Given the description of an element on the screen output the (x, y) to click on. 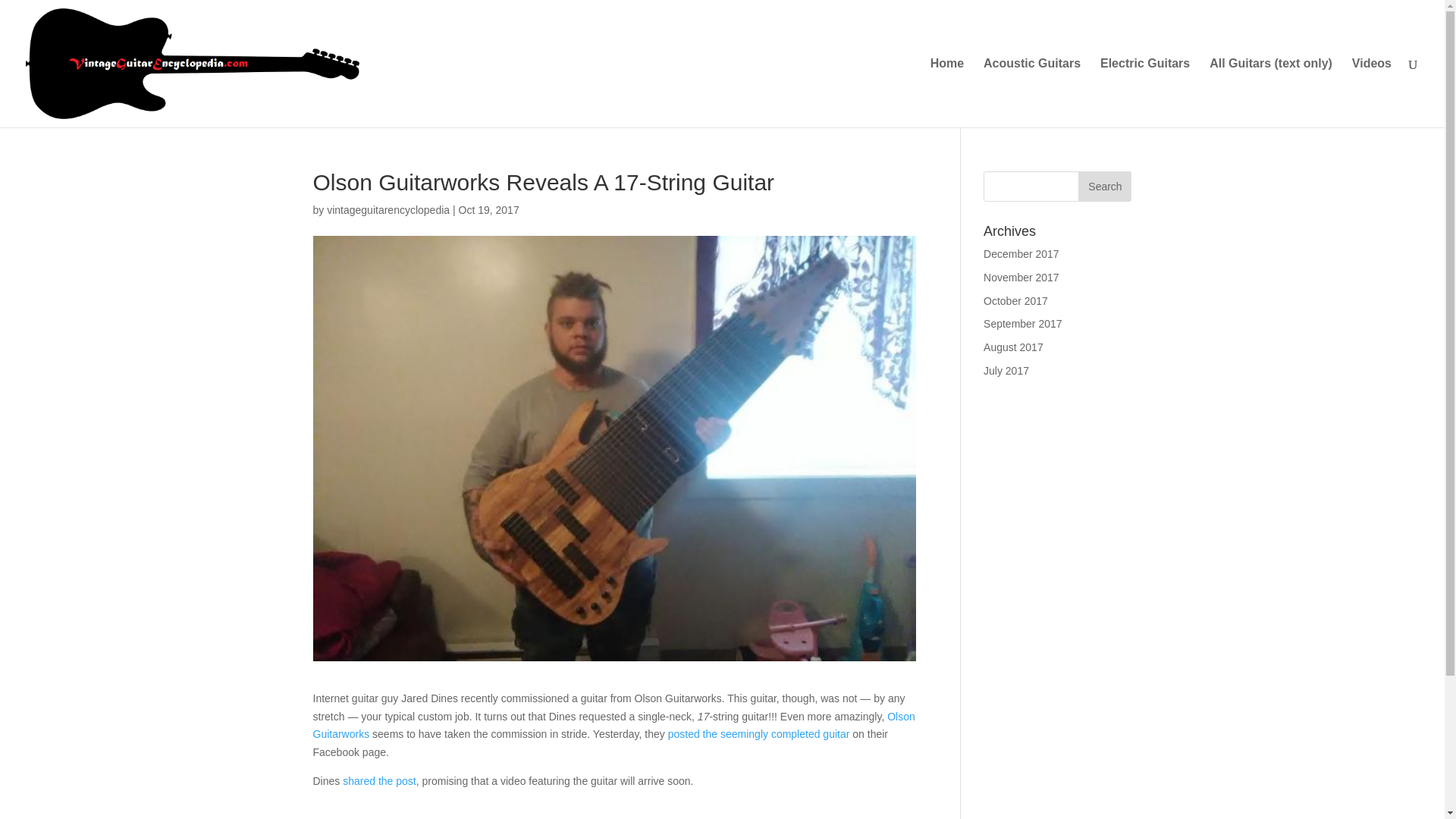
Olson Guitarworks (613, 725)
August 2017 (1013, 346)
September 2017 (1023, 323)
vintageguitarencyclopedia (387, 209)
Search (1104, 186)
Posts by vintageguitarencyclopedia (387, 209)
December 2017 (1021, 254)
Acoustic Guitars (1032, 92)
October 2017 (1016, 300)
November 2017 (1021, 277)
